Given the description of an element on the screen output the (x, y) to click on. 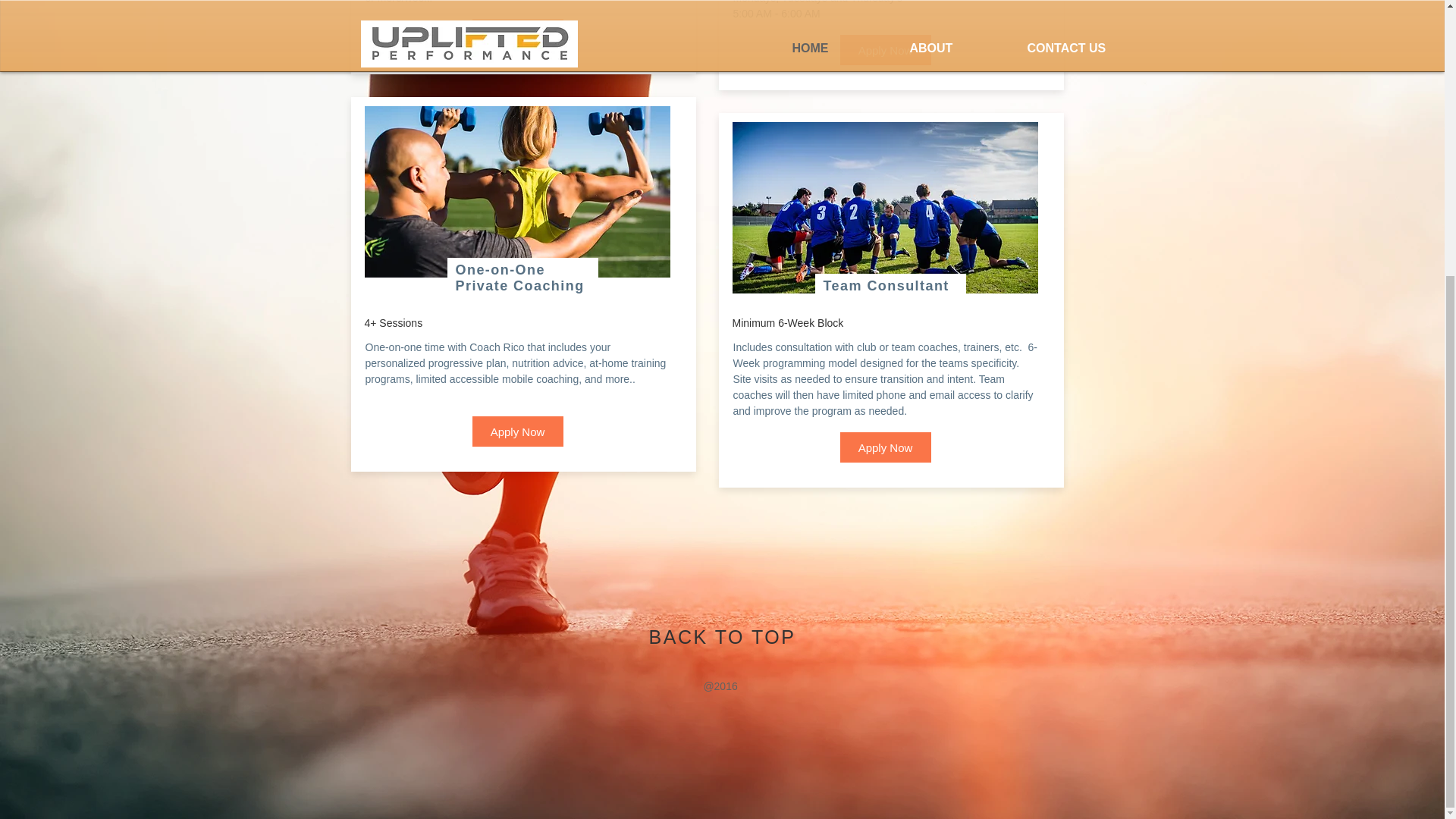
Apply Now (885, 50)
Apply Now (516, 431)
Apply Now (516, 33)
BACK TO TOP (722, 636)
Apply Now (885, 447)
